Given the description of an element on the screen output the (x, y) to click on. 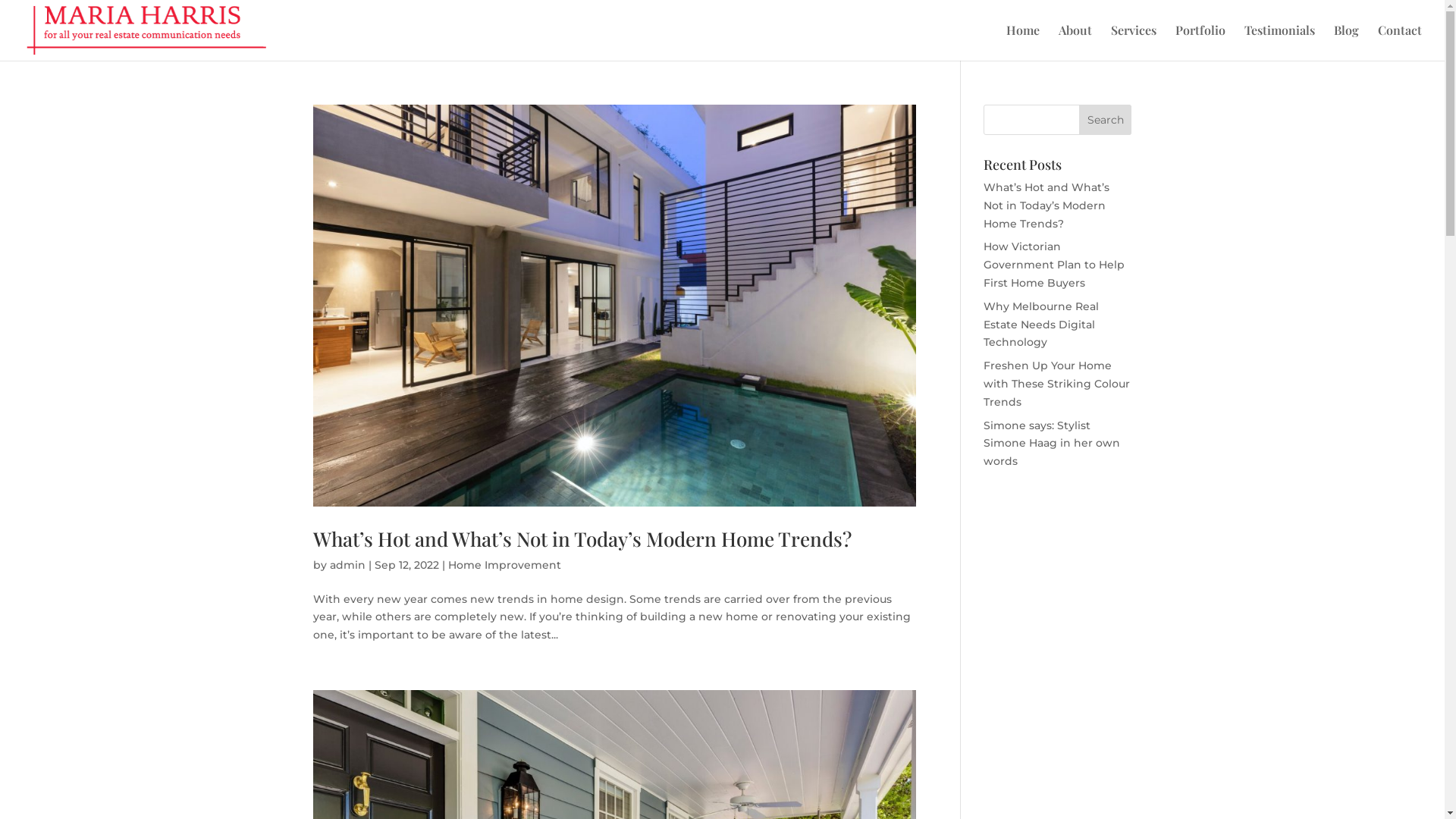
Contact Element type: text (1399, 42)
Freshen Up Your Home with These Striking Colour Trends Element type: text (1056, 383)
Search Element type: text (1105, 119)
Portfolio Element type: text (1200, 42)
Home Element type: text (1022, 42)
How Victorian Government Plan to Help First Home Buyers Element type: text (1053, 264)
About Element type: text (1075, 42)
Services Element type: text (1133, 42)
Why Melbourne Real Estate Needs Digital Technology Element type: text (1040, 324)
Testimonials Element type: text (1279, 42)
Home Improvement Element type: text (503, 564)
admin Element type: text (346, 564)
Blog Element type: text (1345, 42)
Simone says: Stylist Simone Haag in her own words Element type: text (1051, 443)
